Given the description of an element on the screen output the (x, y) to click on. 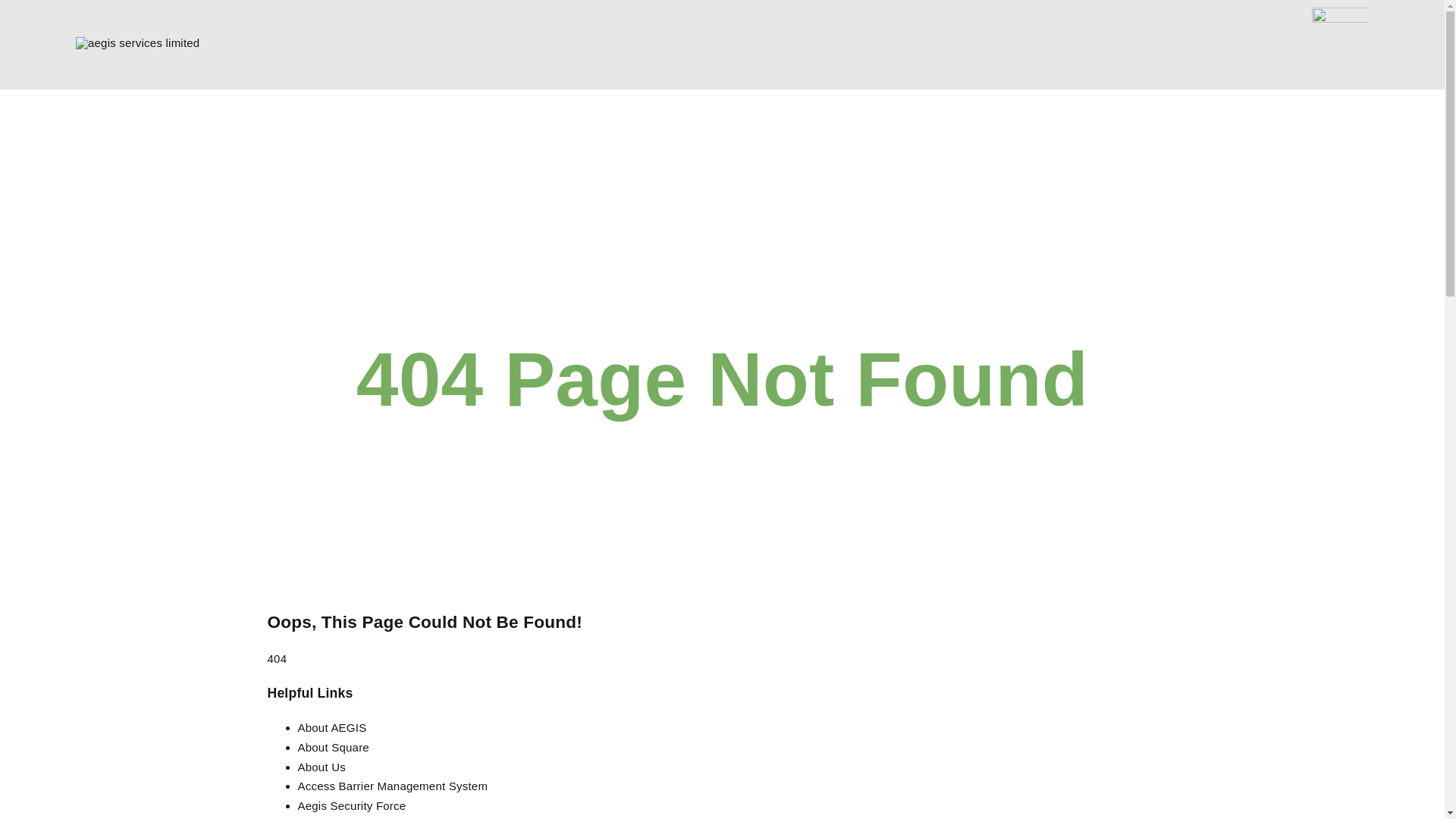
Access Barrier Management System Element type: text (392, 785)
About Square Element type: text (332, 746)
About AEGIS Element type: text (331, 727)
About Us Element type: text (321, 766)
Aegis Security Force Element type: text (351, 805)
